Given the description of an element on the screen output the (x, y) to click on. 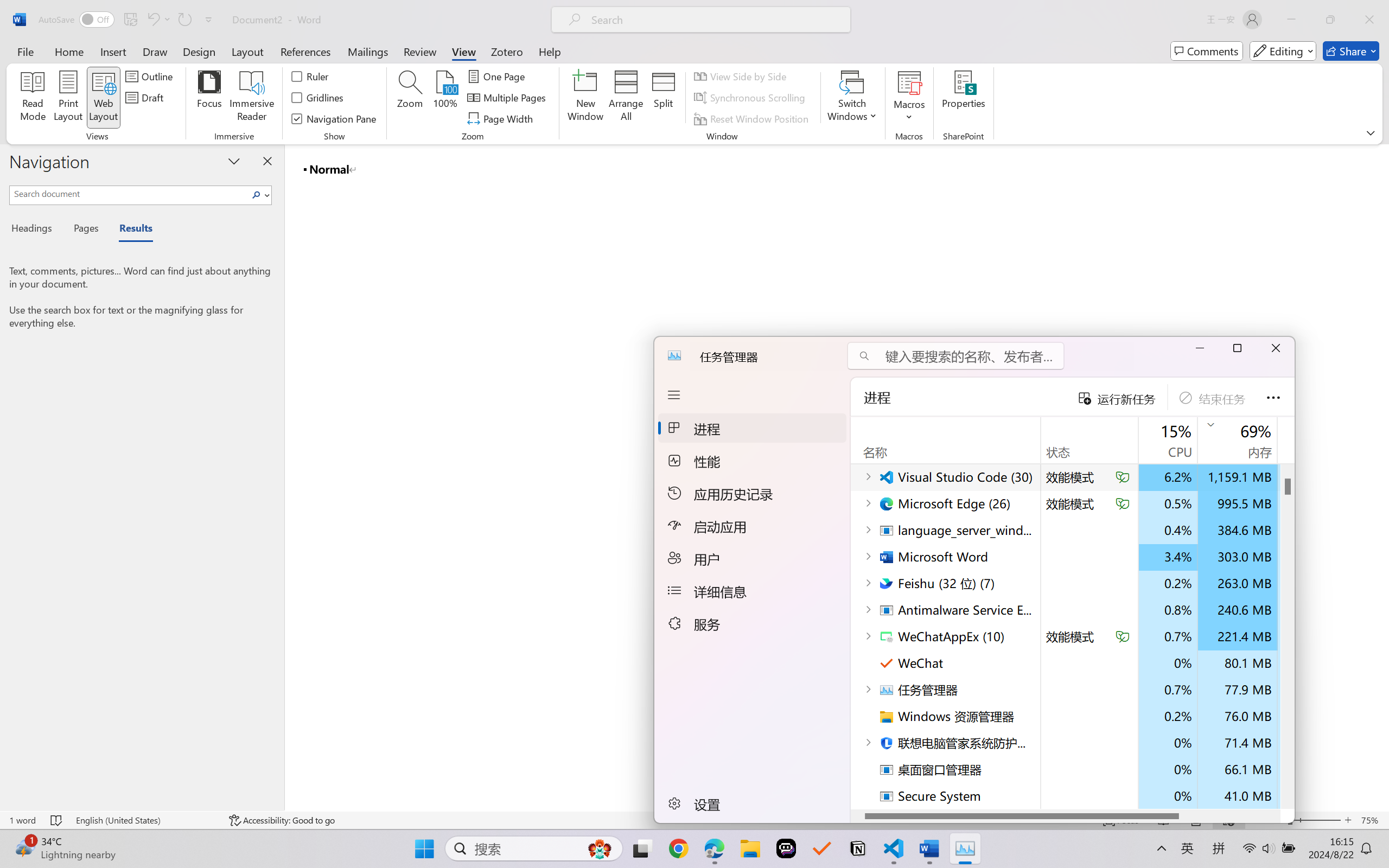
Google Chrome (679, 848)
Ruler (309, 75)
Microsoft search (715, 19)
Undo <ApplyStyleToDoc>b__0 (152, 19)
Headings (35, 229)
Class: NetUIScrollBar (1382, 477)
Switch Windows (852, 97)
Immersive Reader (251, 97)
